Given the description of an element on the screen output the (x, y) to click on. 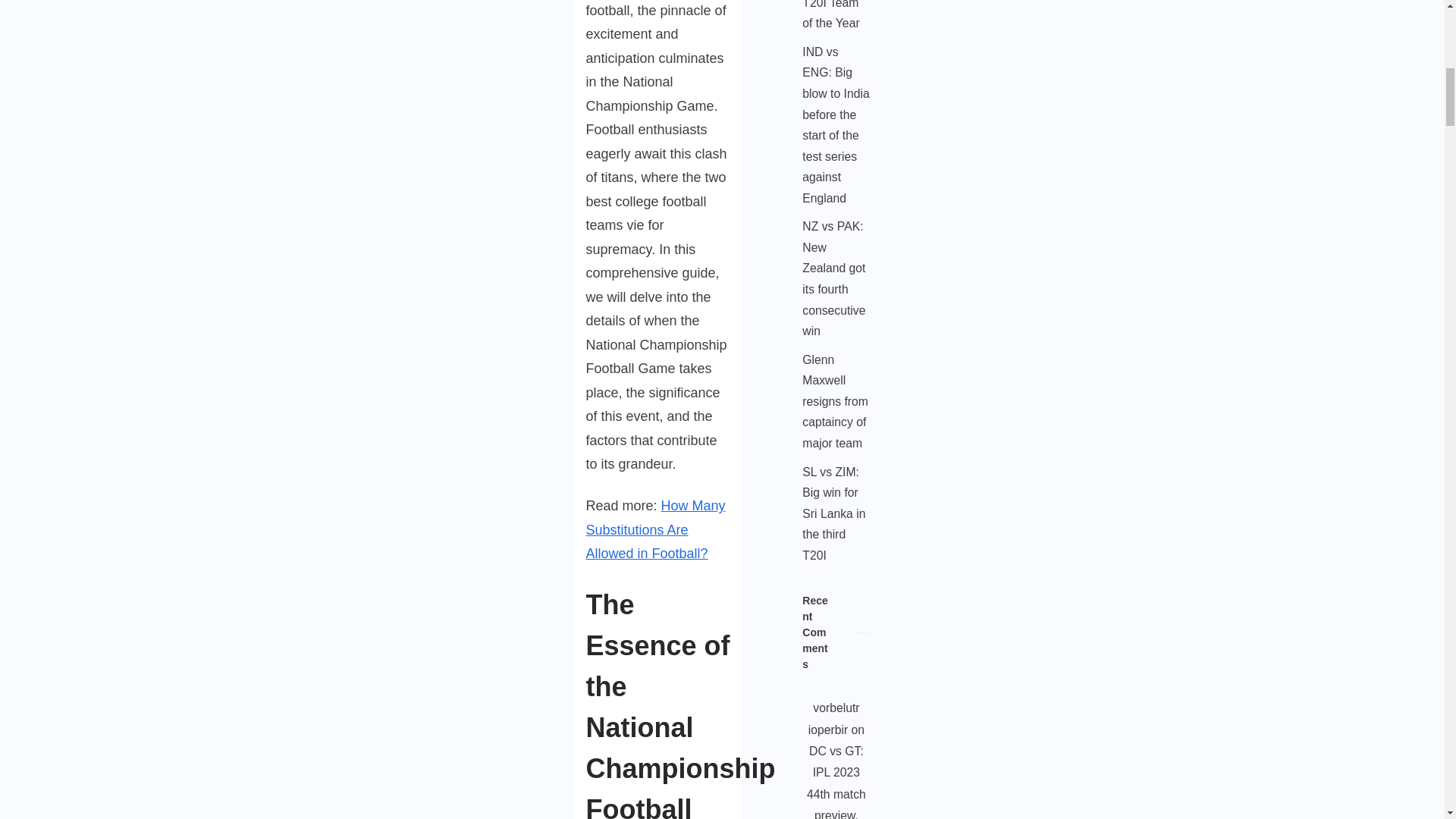
How Many Substitutions Are Allowed in Football? (655, 529)
